Given the description of an element on the screen output the (x, y) to click on. 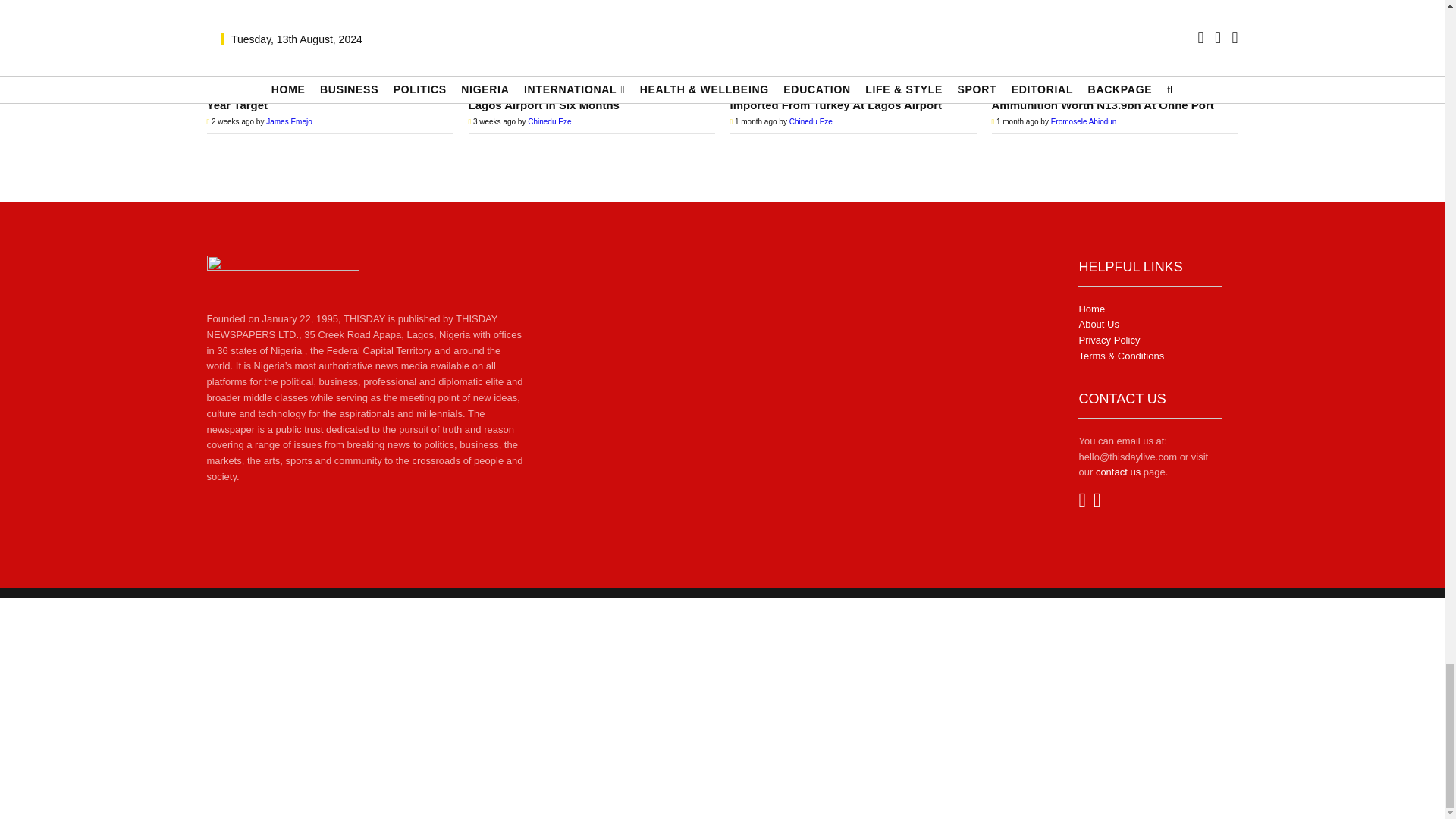
Posts by Eromosele Abiodun (1083, 121)
Posts by James Emejo (289, 121)
Customs Nets N2.74 Trillion, Surpasses Half-year Target (329, 32)
Posts by Chinedu Eze (548, 121)
Posts by Chinedu Eze (810, 121)
